Given the description of an element on the screen output the (x, y) to click on. 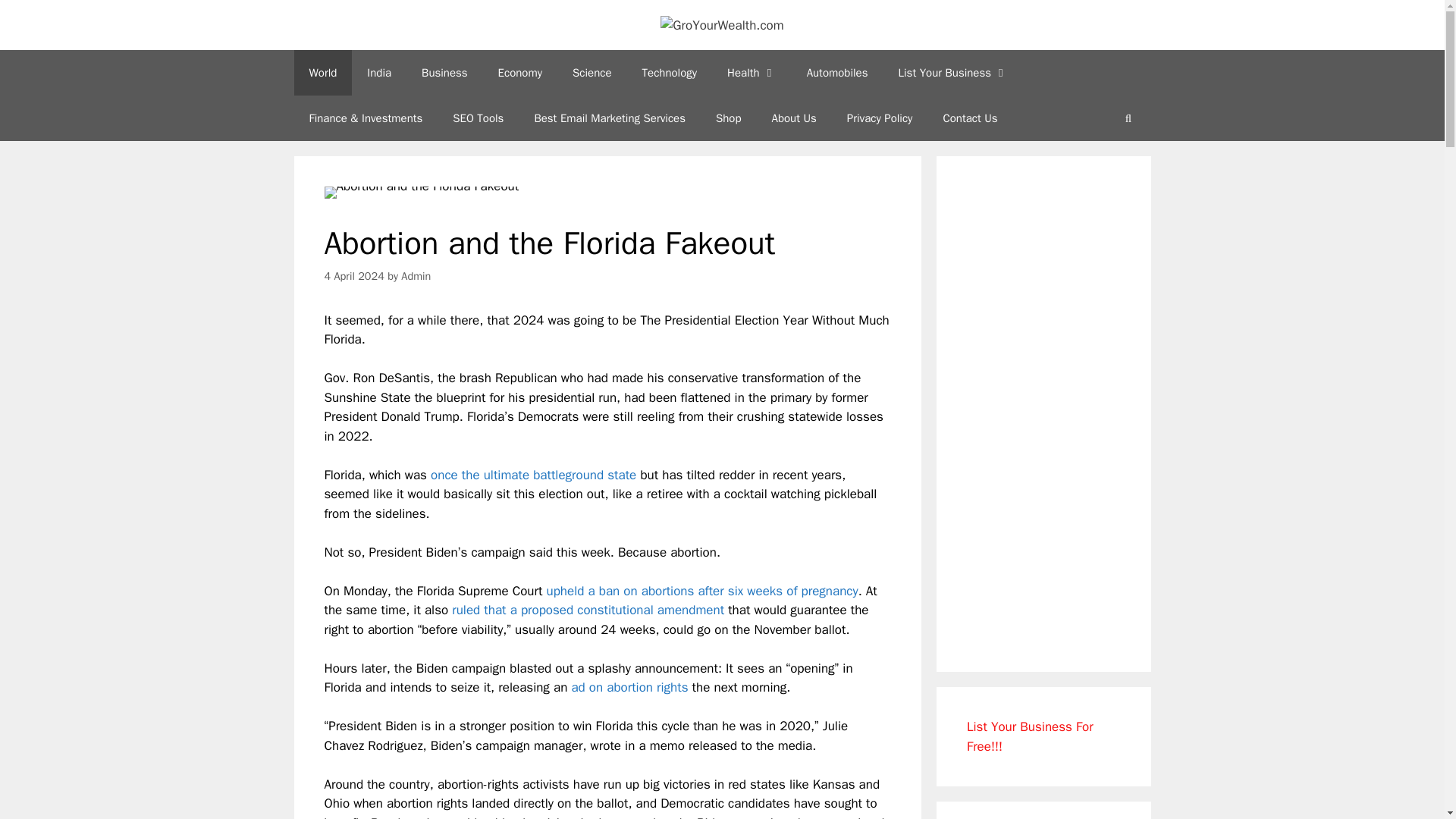
Business (444, 72)
ruled that (478, 609)
India (379, 72)
View all posts by Admin (415, 275)
Best Email Marketing Services (609, 117)
About Us (794, 117)
once the ultimate battleground state (533, 474)
Shop (728, 117)
Contact Us (969, 117)
Health (751, 72)
Privacy Policy (879, 117)
Admin (415, 275)
List Your Business (952, 72)
a proposed constitutional amendment (617, 609)
Science (592, 72)
